Given the description of an element on the screen output the (x, y) to click on. 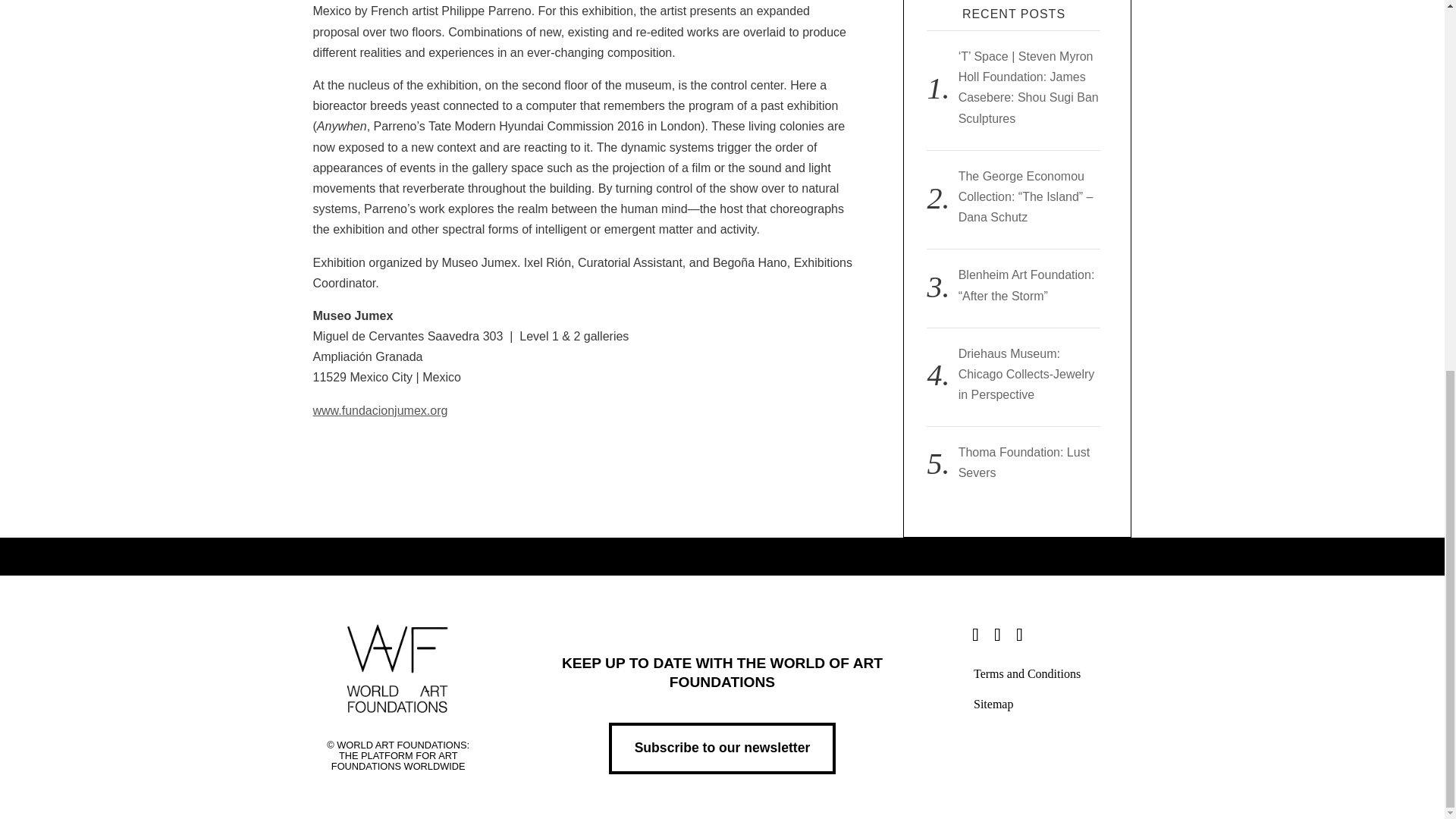
www.fundacionjumex.org (379, 410)
